Given the description of an element on the screen output the (x, y) to click on. 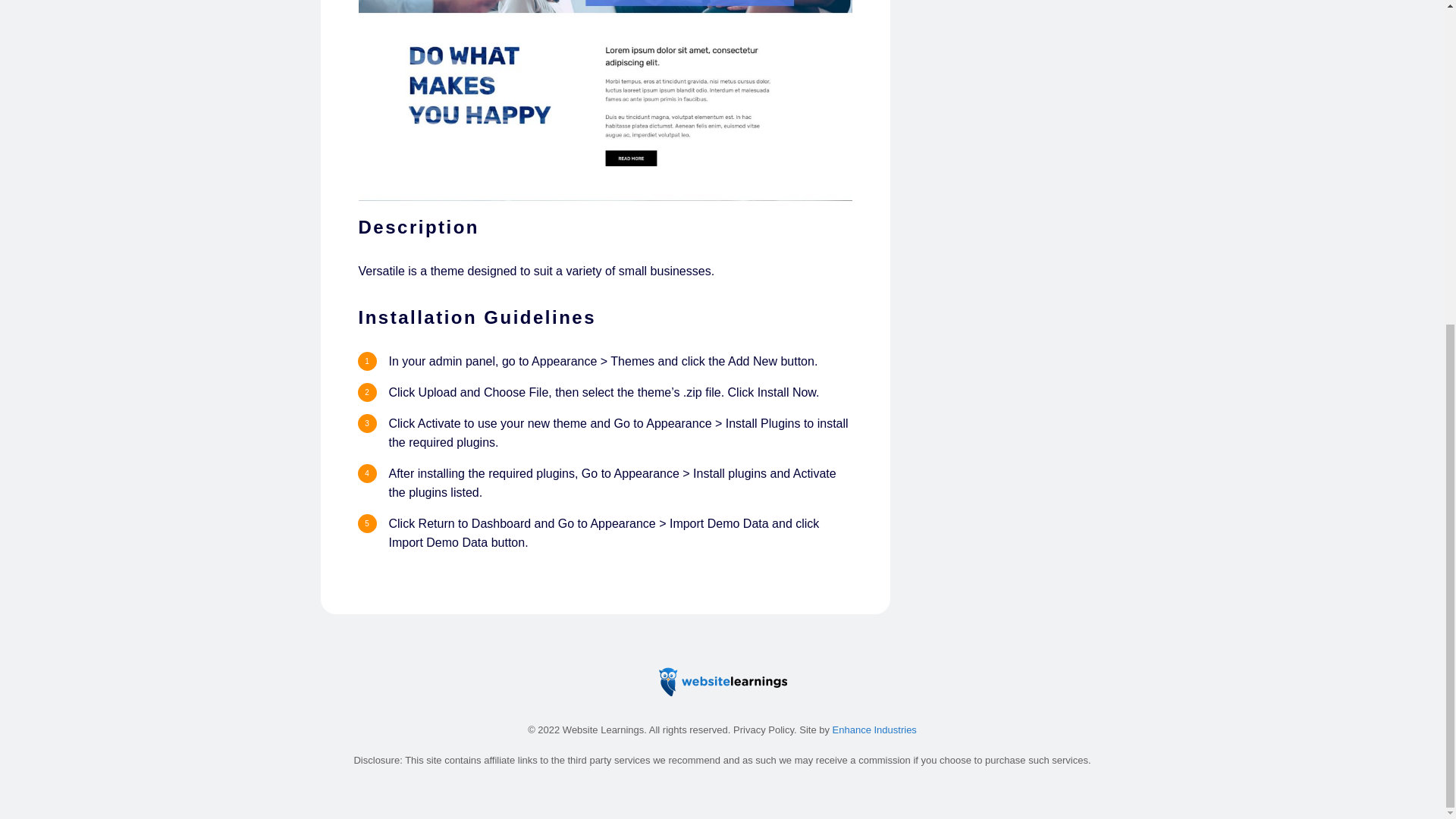
Enhance Industries (874, 729)
